Given the description of an element on the screen output the (x, y) to click on. 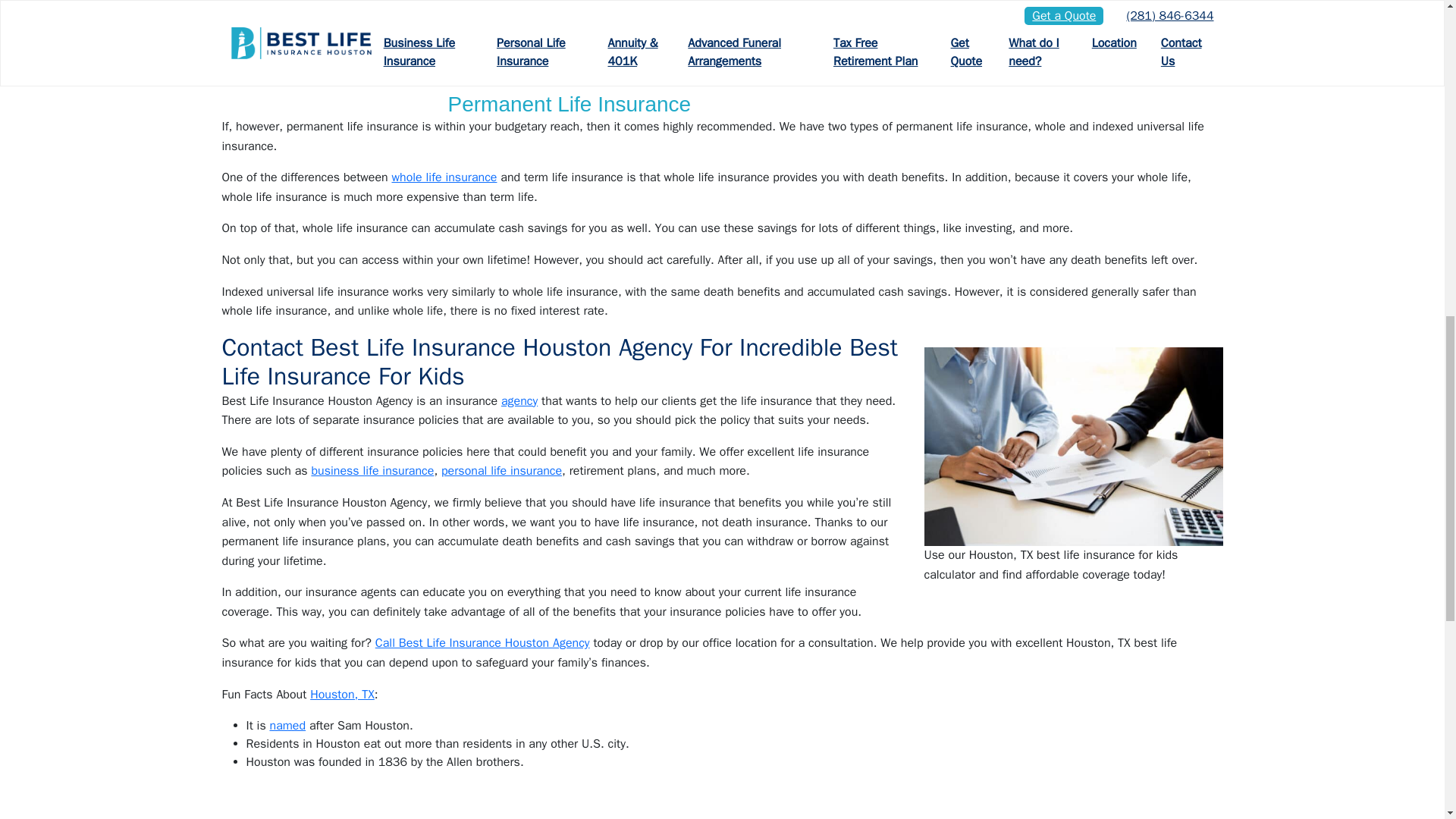
whole life insurance (443, 177)
agency (518, 400)
